Given the description of an element on the screen output the (x, y) to click on. 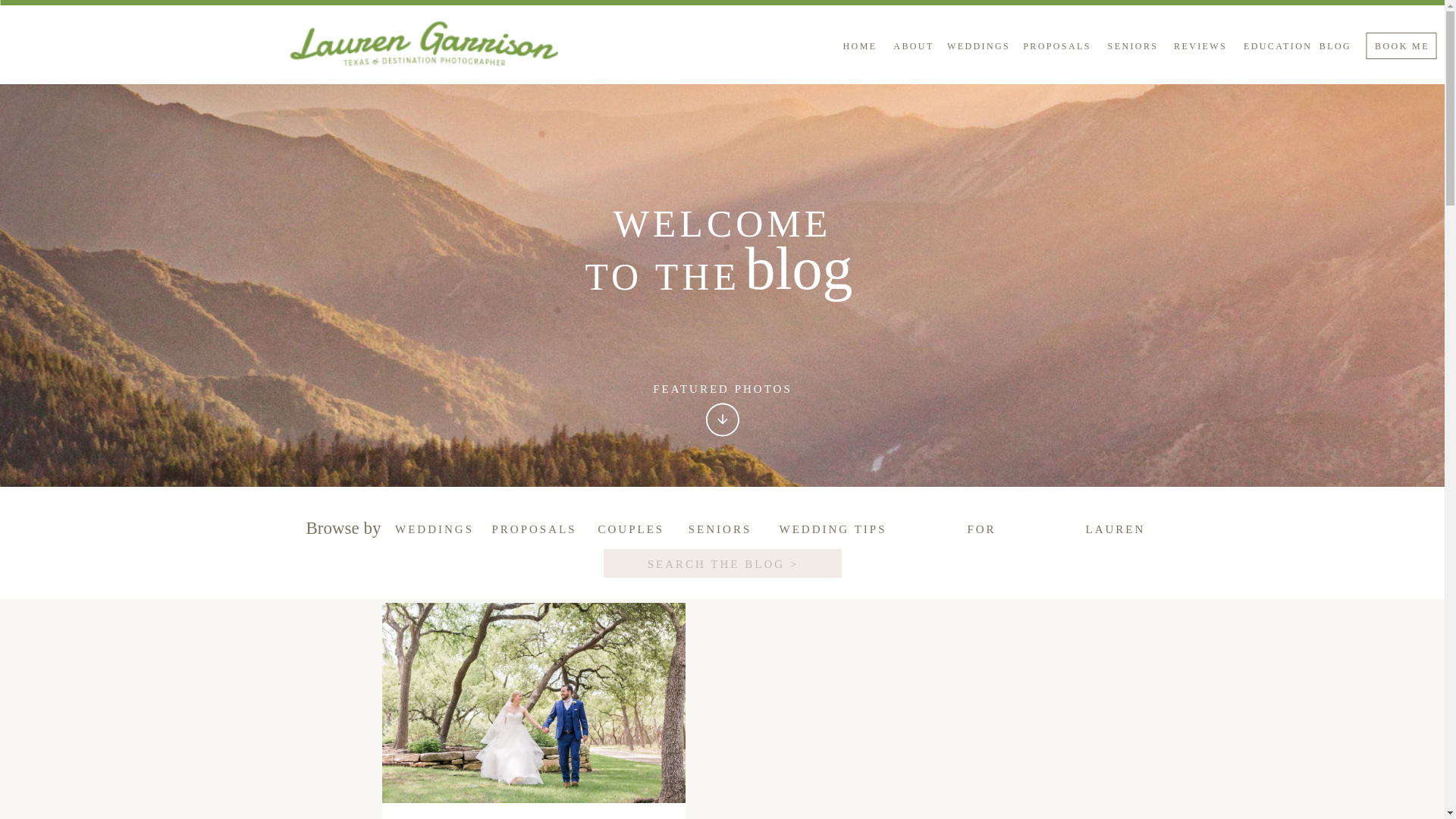
WEDDINGS (978, 48)
FOR PHOTOGRAPHERS (981, 529)
LAUREN (1115, 529)
WEDDINGS (434, 529)
ABOUT (913, 48)
PROPOSALS (532, 529)
EDUCATION (1273, 48)
PROPOSALS (1056, 48)
HOME (859, 48)
FEATURED PHOTOS (722, 389)
BLOG (1335, 48)
SENIORS (1132, 48)
COUPLES (627, 529)
WEDDING TIPS (832, 529)
REVIEWS (1200, 48)
